Given the description of an element on the screen output the (x, y) to click on. 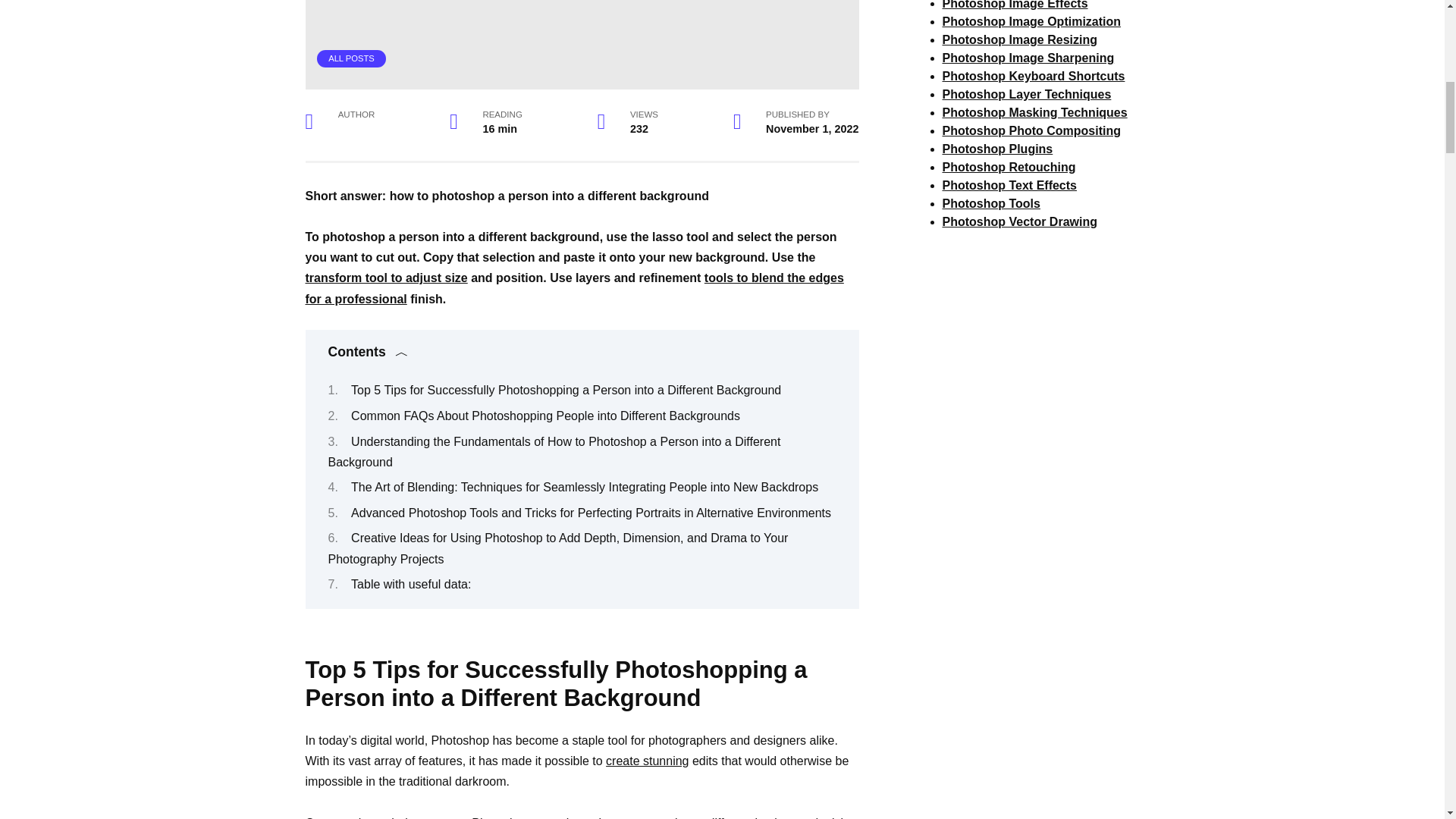
Table with useful data: (410, 584)
ALL POSTS (351, 58)
create stunning (646, 760)
tools to blend the edges for a professional (573, 287)
